Given the description of an element on the screen output the (x, y) to click on. 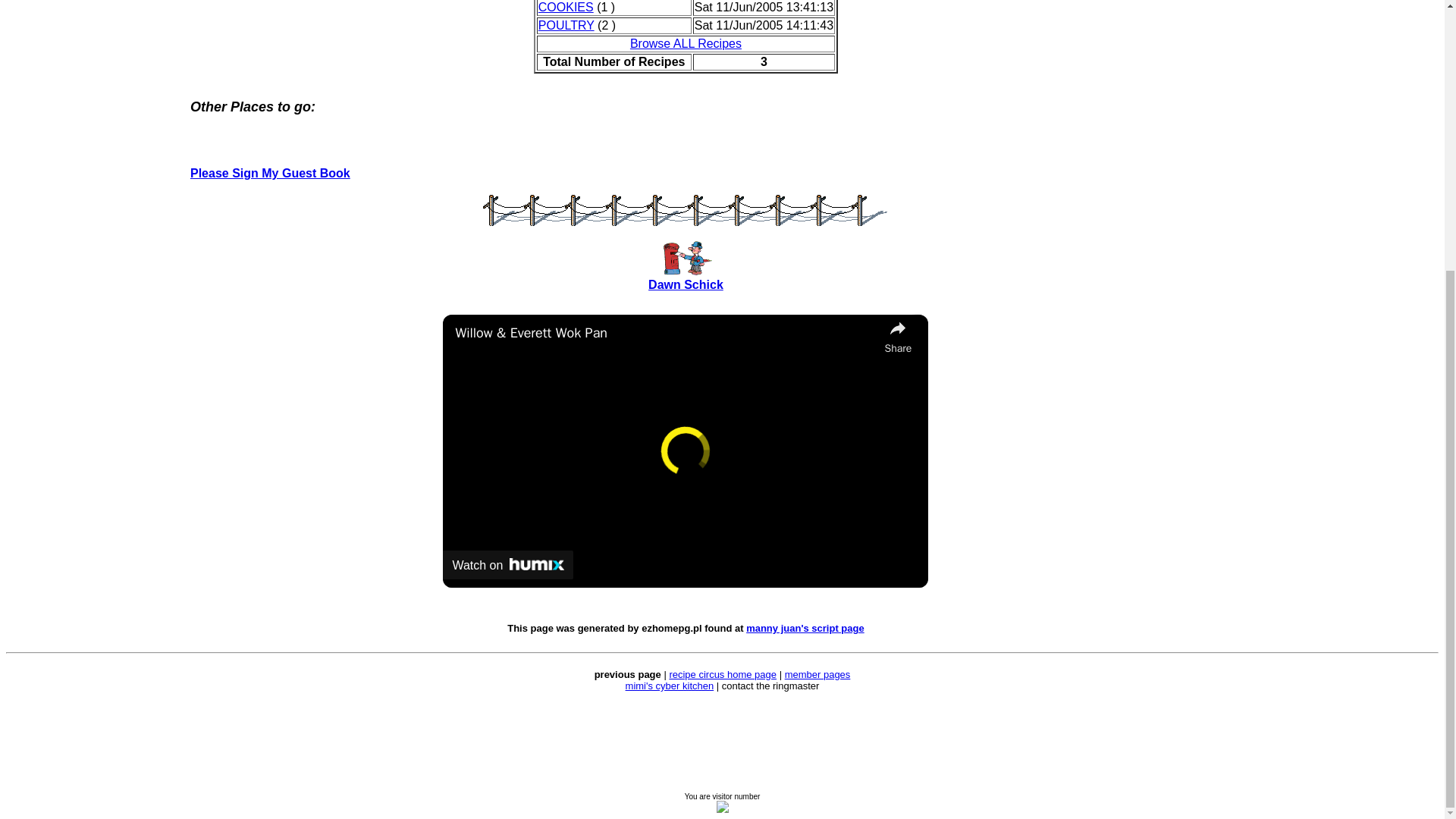
previous page (627, 674)
Watch on (507, 564)
recipe circus home page (722, 674)
mimi's cyber kitchen (670, 685)
Please Sign My Guest Book (270, 173)
POULTRY (566, 24)
Browse ALL Recipes (685, 42)
manny juan's script page (804, 627)
Dawn Schick (685, 284)
member pages (817, 674)
contact the ringmaster (770, 685)
COOKIES (566, 6)
